Given the description of an element on the screen output the (x, y) to click on. 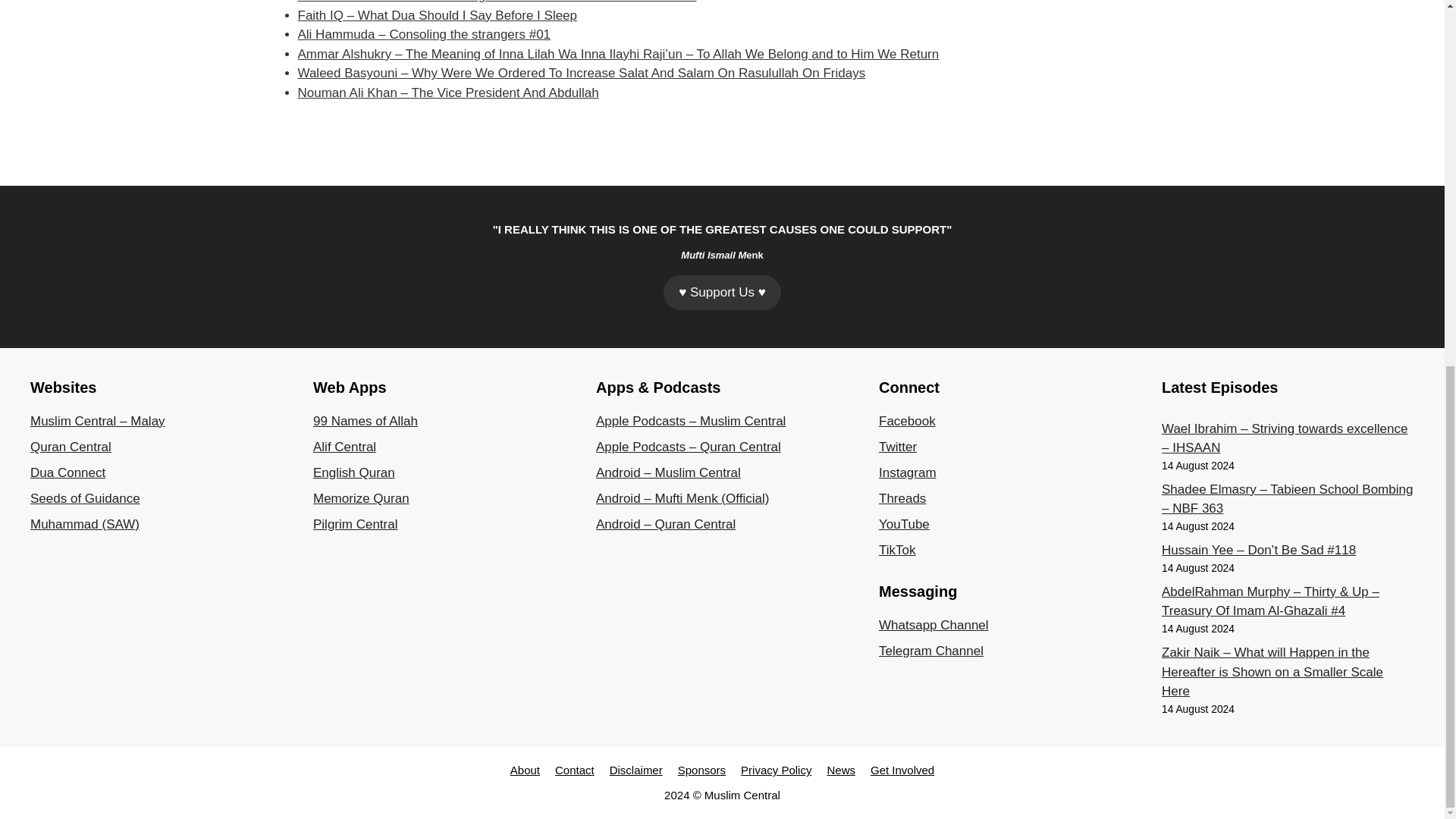
Memorize Quran (361, 498)
English Quran (353, 472)
Dua Connect (67, 472)
Pilgrim Central (355, 523)
Seeds of Guidance (84, 498)
99 Names of Allah (365, 421)
Quran Central (71, 446)
Alif Central (344, 446)
